Given the description of an element on the screen output the (x, y) to click on. 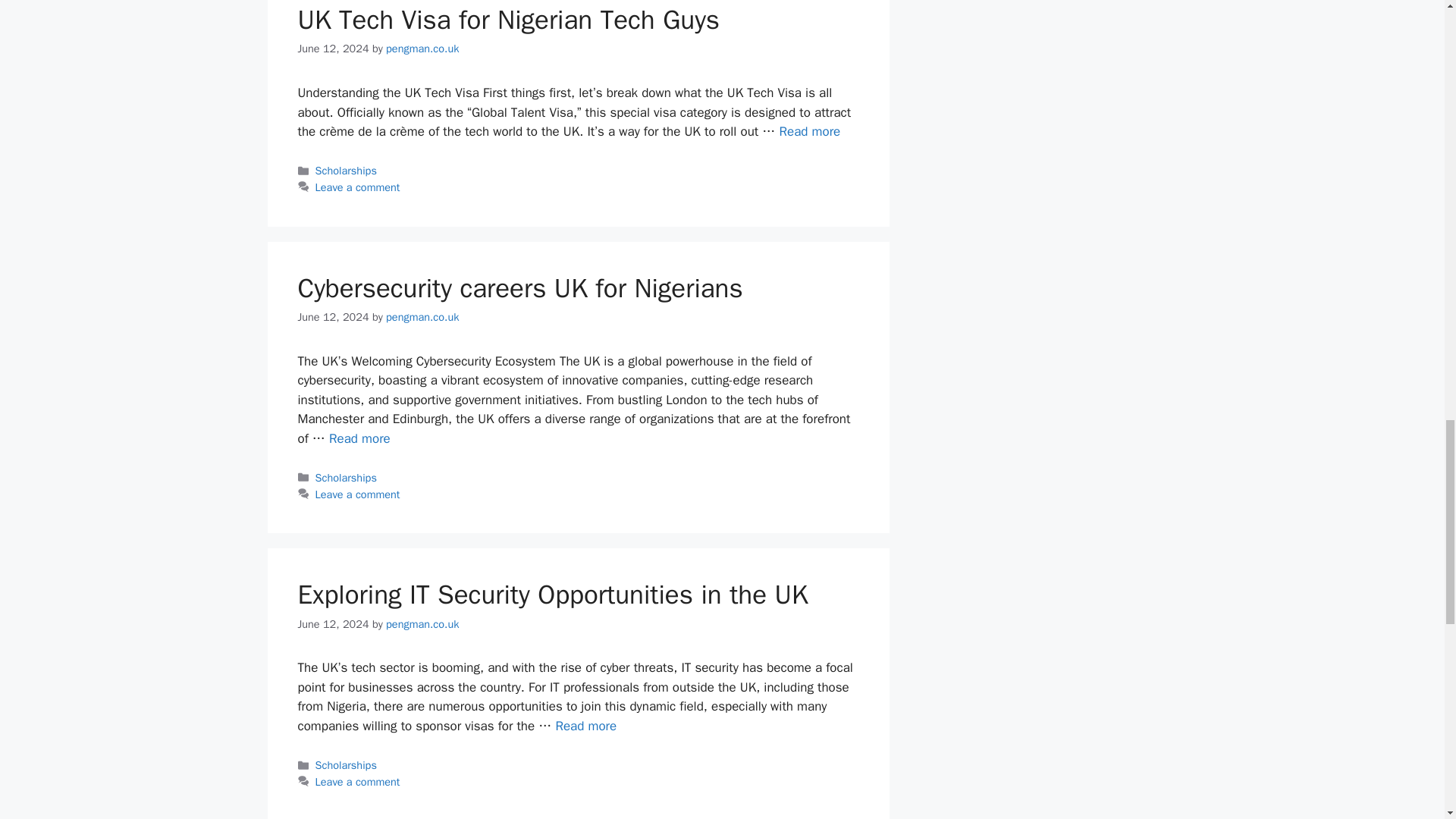
Scholarships (346, 170)
View all posts by pengman.co.uk (421, 316)
Read more (809, 131)
pengman.co.uk (421, 48)
View all posts by pengman.co.uk (421, 48)
Exploring IT Security Opportunities in the UK (584, 725)
UK Tech Visa for Nigerian Tech Guys (809, 131)
UK Tech Visa for Nigerian Tech Guys (508, 19)
Cybersecurity careers UK for Nigerians (359, 438)
View all posts by pengman.co.uk (421, 623)
